Given the description of an element on the screen output the (x, y) to click on. 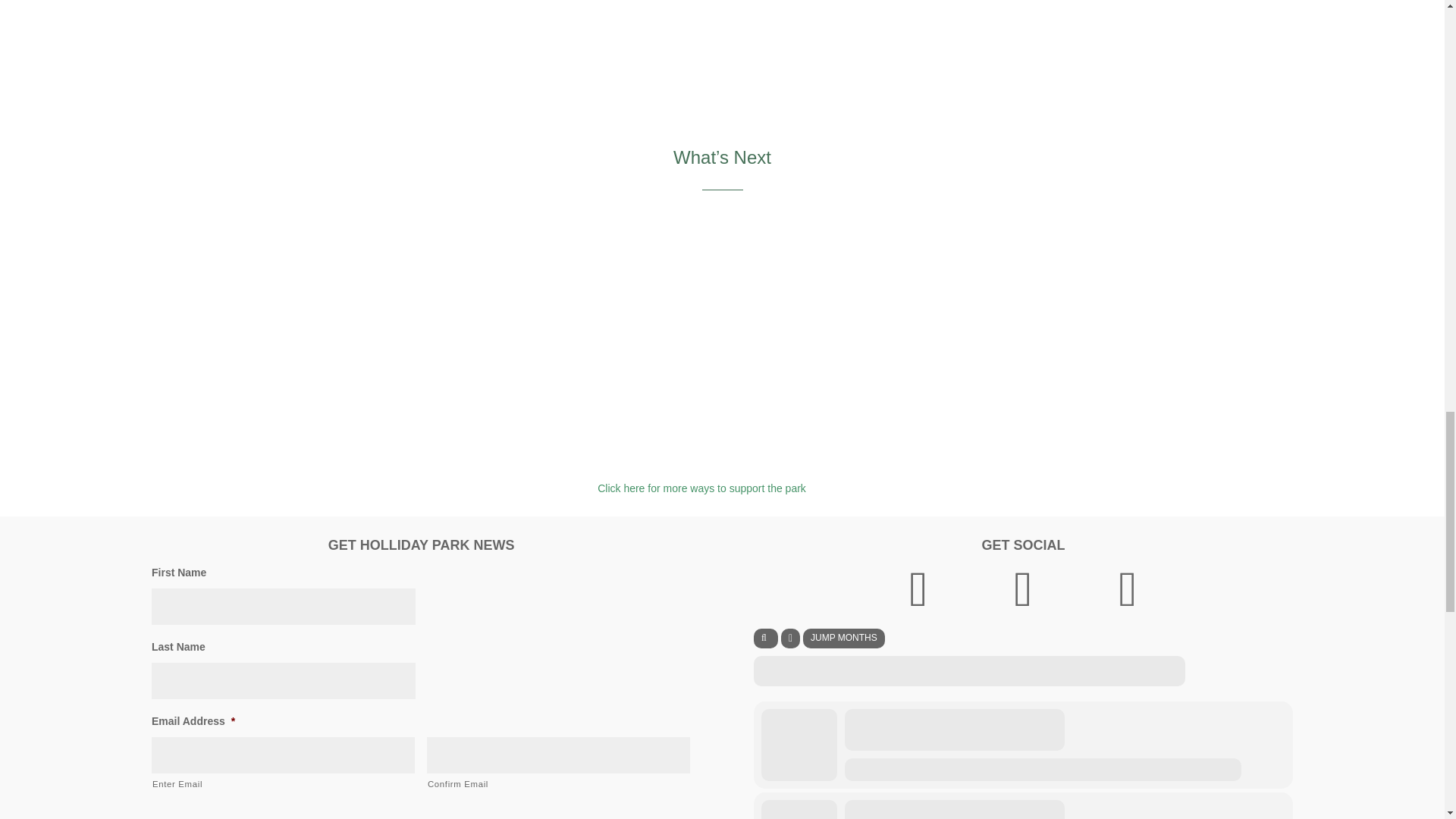
Follow on Instagram (1022, 588)
Follow on LinkedIn (1127, 588)
Follow on Facebook (918, 588)
